Given the description of an element on the screen output the (x, y) to click on. 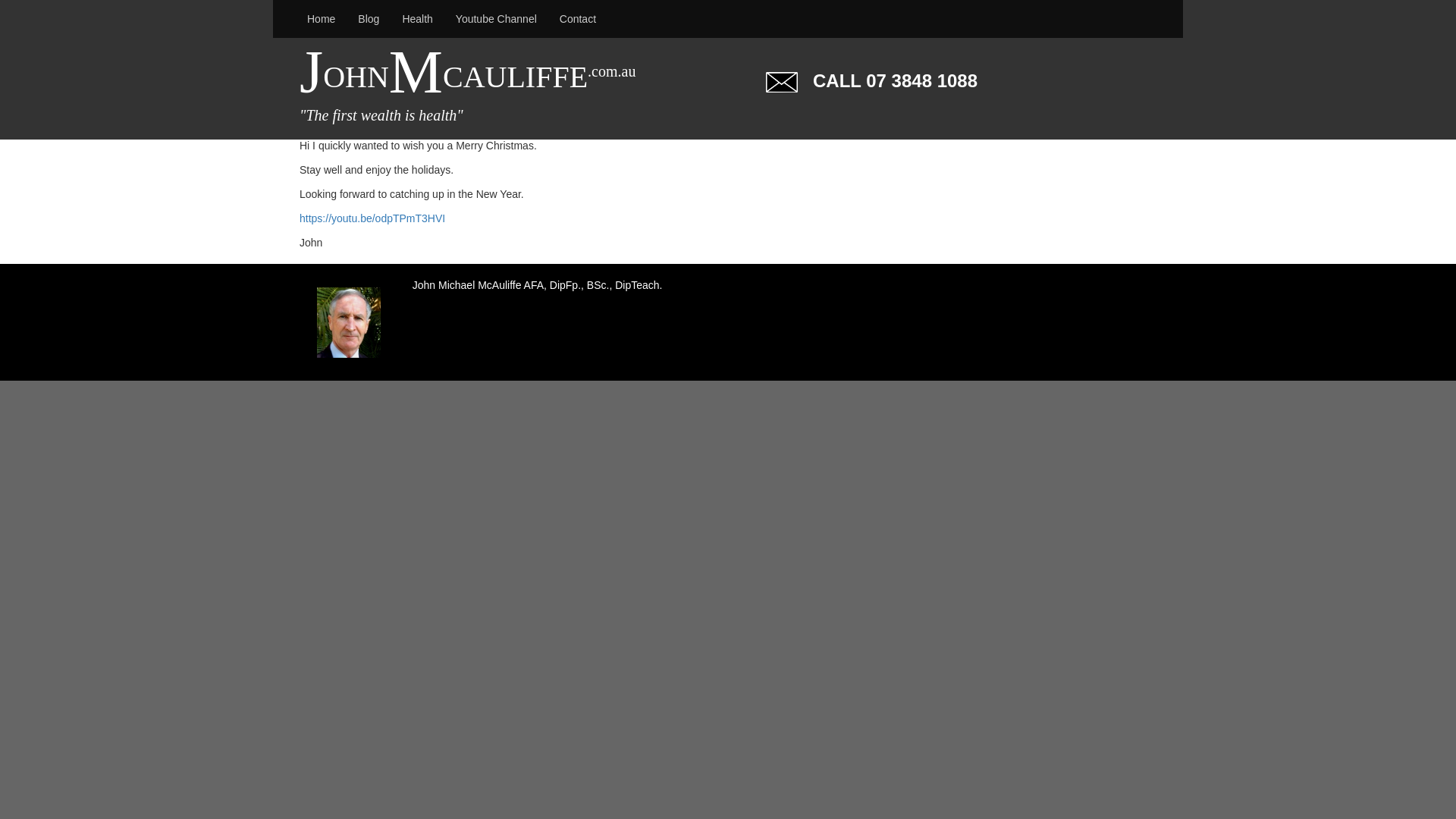
Contact Element type: text (577, 18)
Health Element type: text (416, 18)
https://youtu.be/odpTPmT3HVI Element type: text (372, 218)
Youtube Channel Element type: text (496, 18)
Home Element type: text (320, 18)
Blog Element type: text (368, 18)
